Given the description of an element on the screen output the (x, y) to click on. 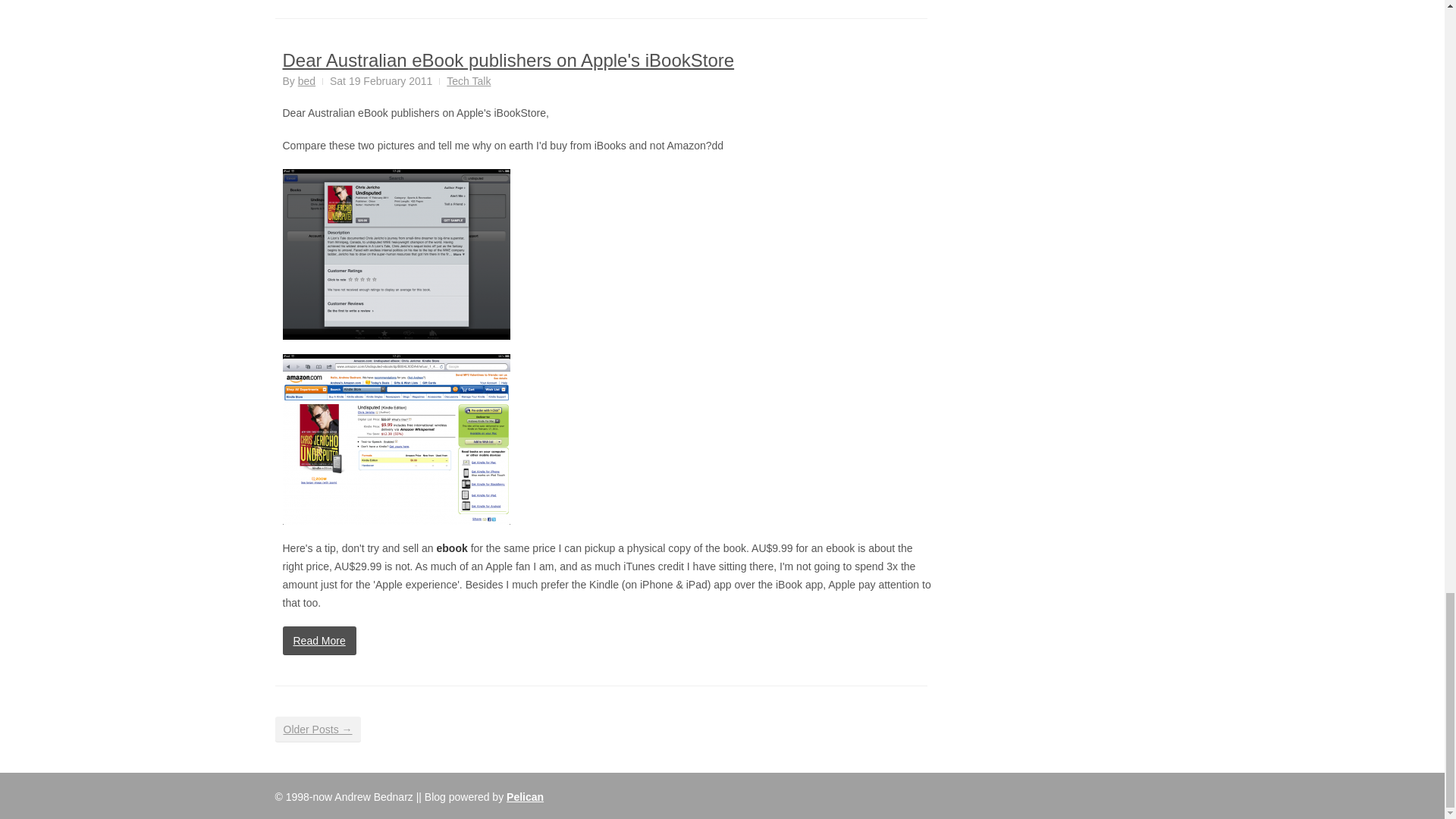
Read More (318, 640)
undisputed-ibooks (395, 253)
Dear Australian eBook publishers on Apple's iBookStore (507, 59)
bed (306, 80)
Tech Talk (468, 80)
undisputed-amazon (395, 438)
